Given the description of an element on the screen output the (x, y) to click on. 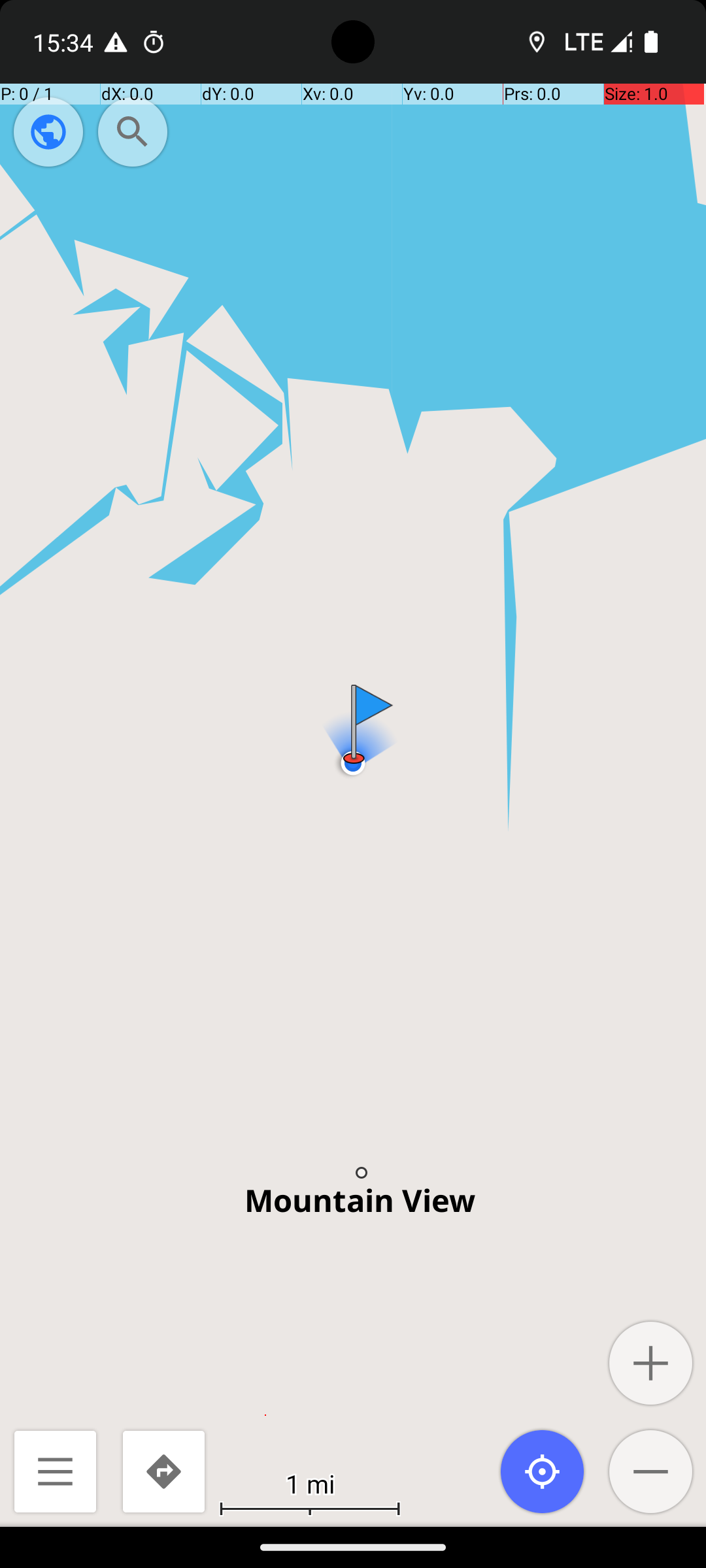
1 mi Element type: android.widget.TextView (309, 1483)
Where am I Element type: android.widget.ImageButton (542, 1471)
